Given the description of an element on the screen output the (x, y) to click on. 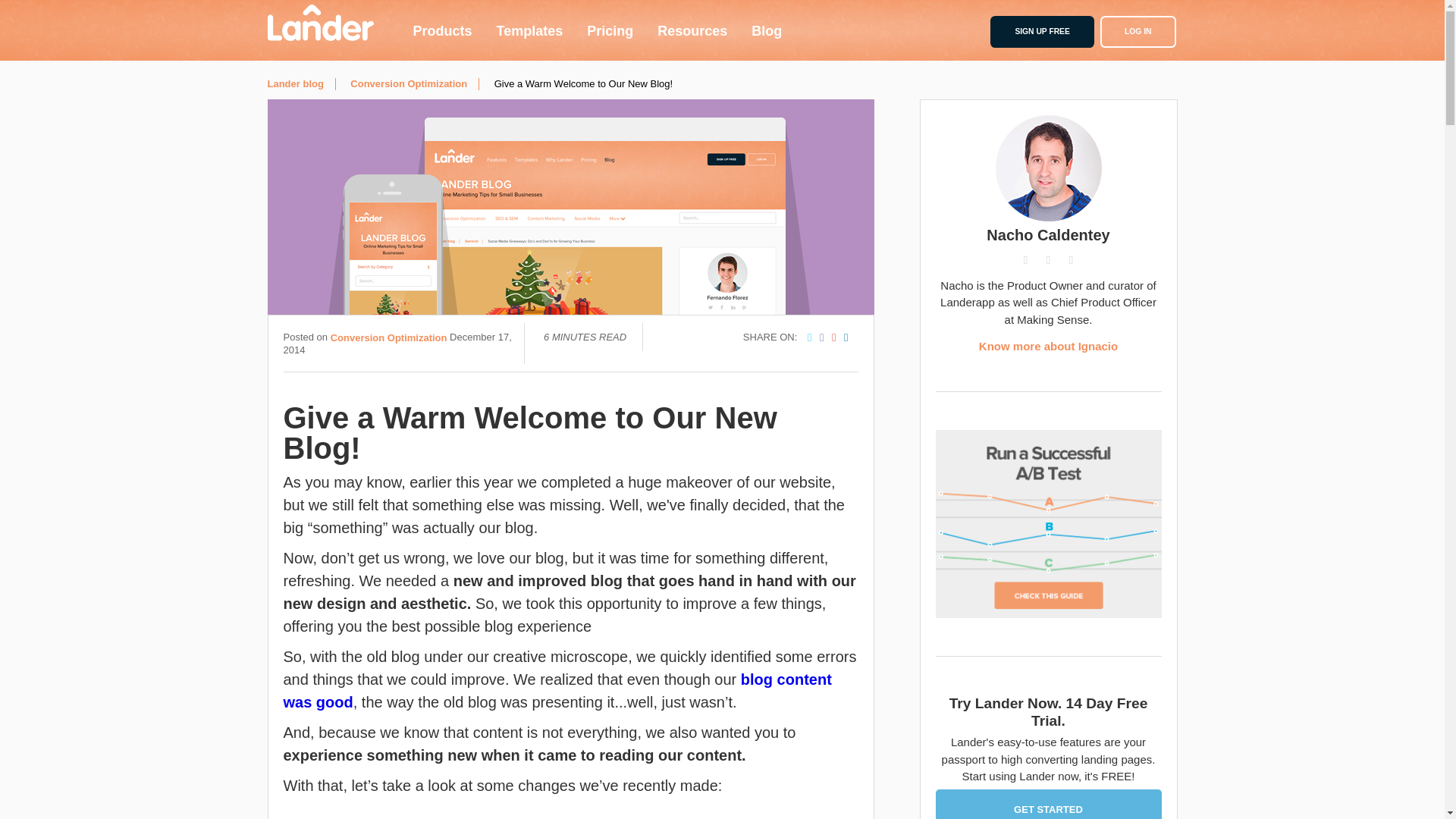
Conversion Optimization (336, 24)
Pricing (609, 30)
View all posts in Conversion Optimization (409, 83)
Go back to home (319, 22)
View all posts in Conversion Optimization (388, 337)
Blog (766, 30)
Content Marketing (564, 24)
LOG IN (1137, 31)
SIGN UP FREE (1041, 31)
Templates (529, 30)
More (747, 24)
Products (441, 30)
Resources (692, 30)
Social Media (672, 24)
